Given the description of an element on the screen output the (x, y) to click on. 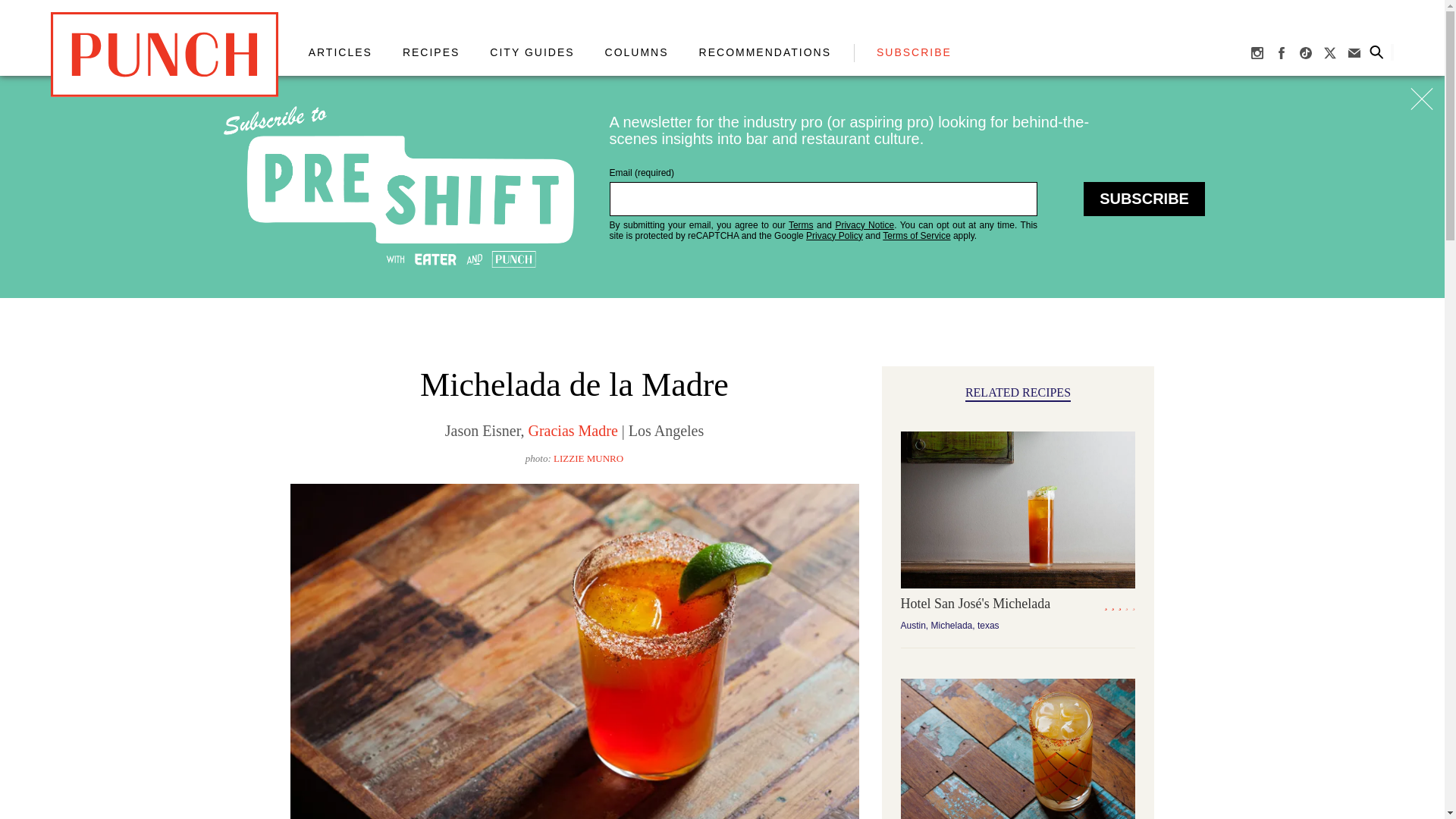
COLUMNS (636, 52)
SUBSCRIBE (914, 52)
Privacy Notice (863, 225)
Terms (801, 225)
RECIPES (431, 52)
Terms of Service (916, 235)
RECOMMENDATIONS (764, 52)
ARTICLES (340, 52)
Privacy Policy (834, 235)
CITY GUIDES (531, 52)
